Given the description of an element on the screen output the (x, y) to click on. 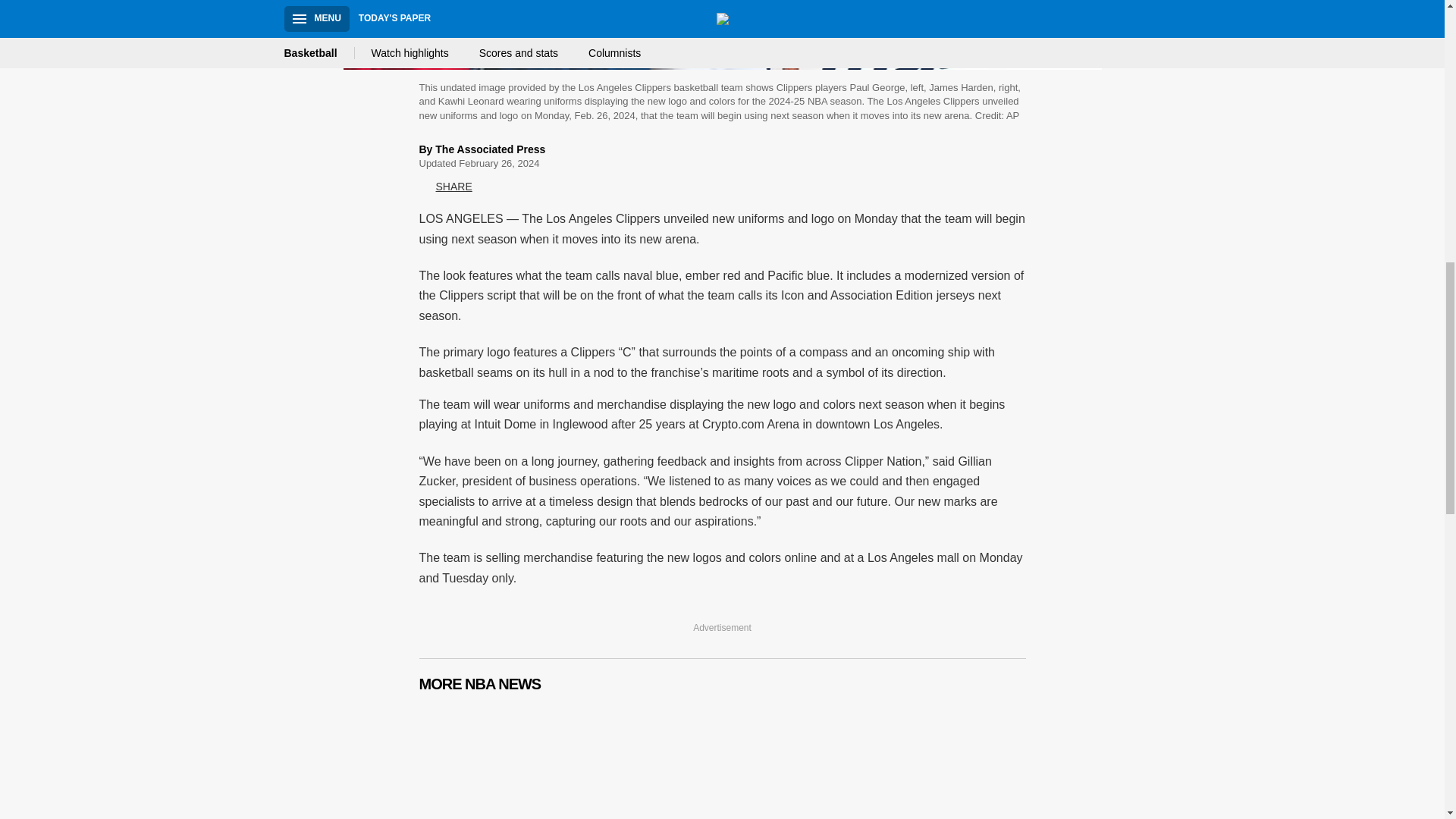
SHARE (445, 187)
Read in the app (238, 707)
